Given the description of an element on the screen output the (x, y) to click on. 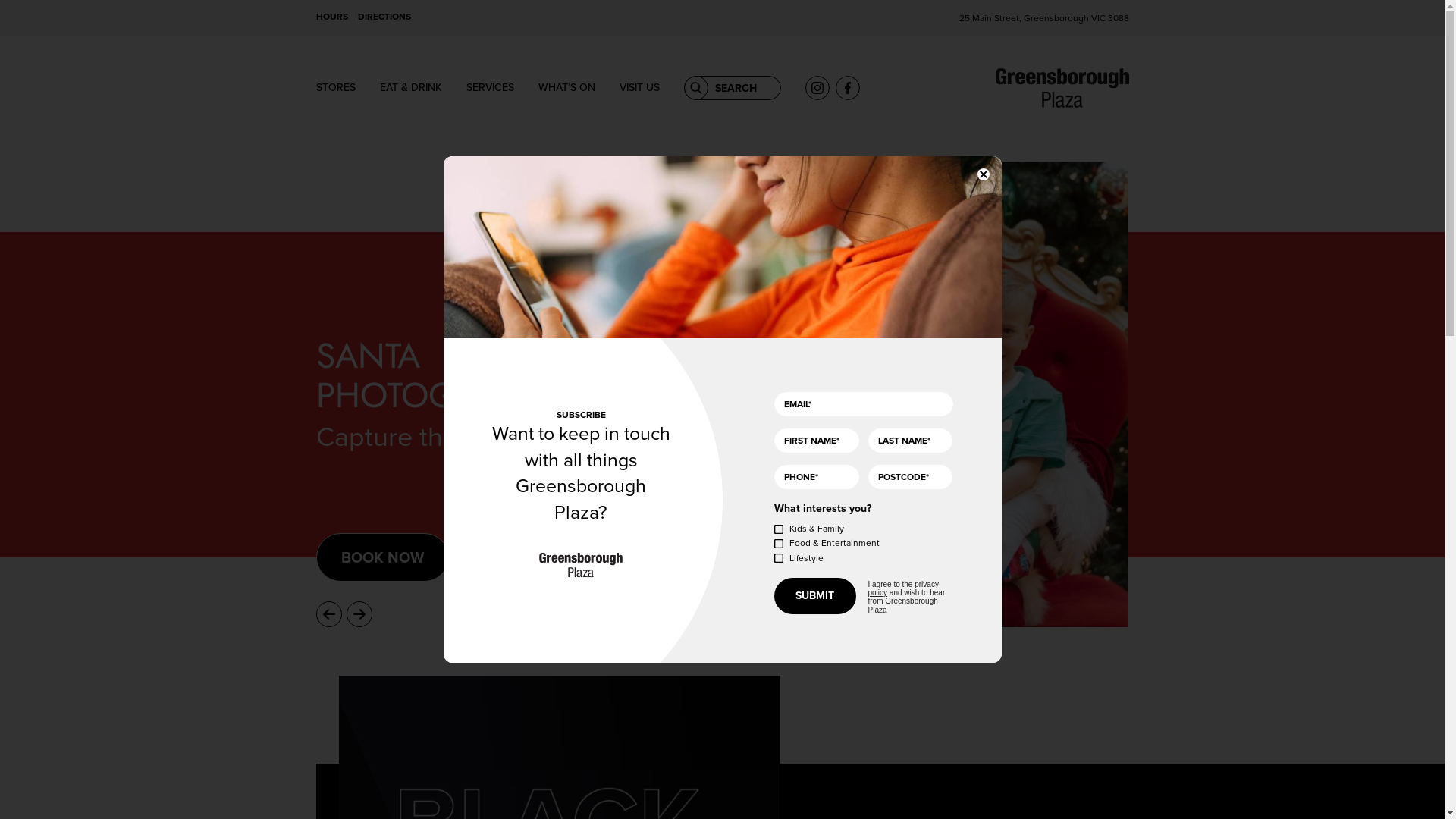
HOURS Element type: text (331, 16)
privacy policy Element type: text (902, 588)
EAT & DRINK Element type: text (410, 87)
INSTAGRAM Element type: text (817, 87)
FACEBOOK Element type: text (847, 87)
DIRECTIONS Element type: text (384, 16)
Previous Element type: text (328, 614)
Next Element type: text (358, 614)
SERVICES Element type: text (489, 87)
Submit Element type: text (815, 595)
Greensborough Plaza Element type: text (1061, 87)
STORES Element type: text (334, 87)
BOOK NOW Element type: text (381, 557)
Search Element type: text (696, 87)
VISIT US Element type: text (638, 87)
